Given the description of an element on the screen output the (x, y) to click on. 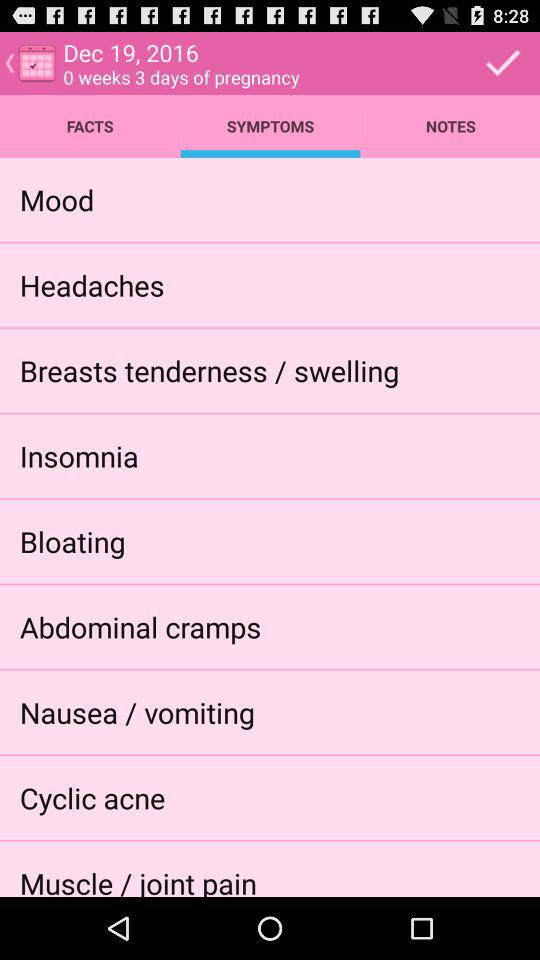
select item next to the 0 weeks 3 (503, 62)
